Given the description of an element on the screen output the (x, y) to click on. 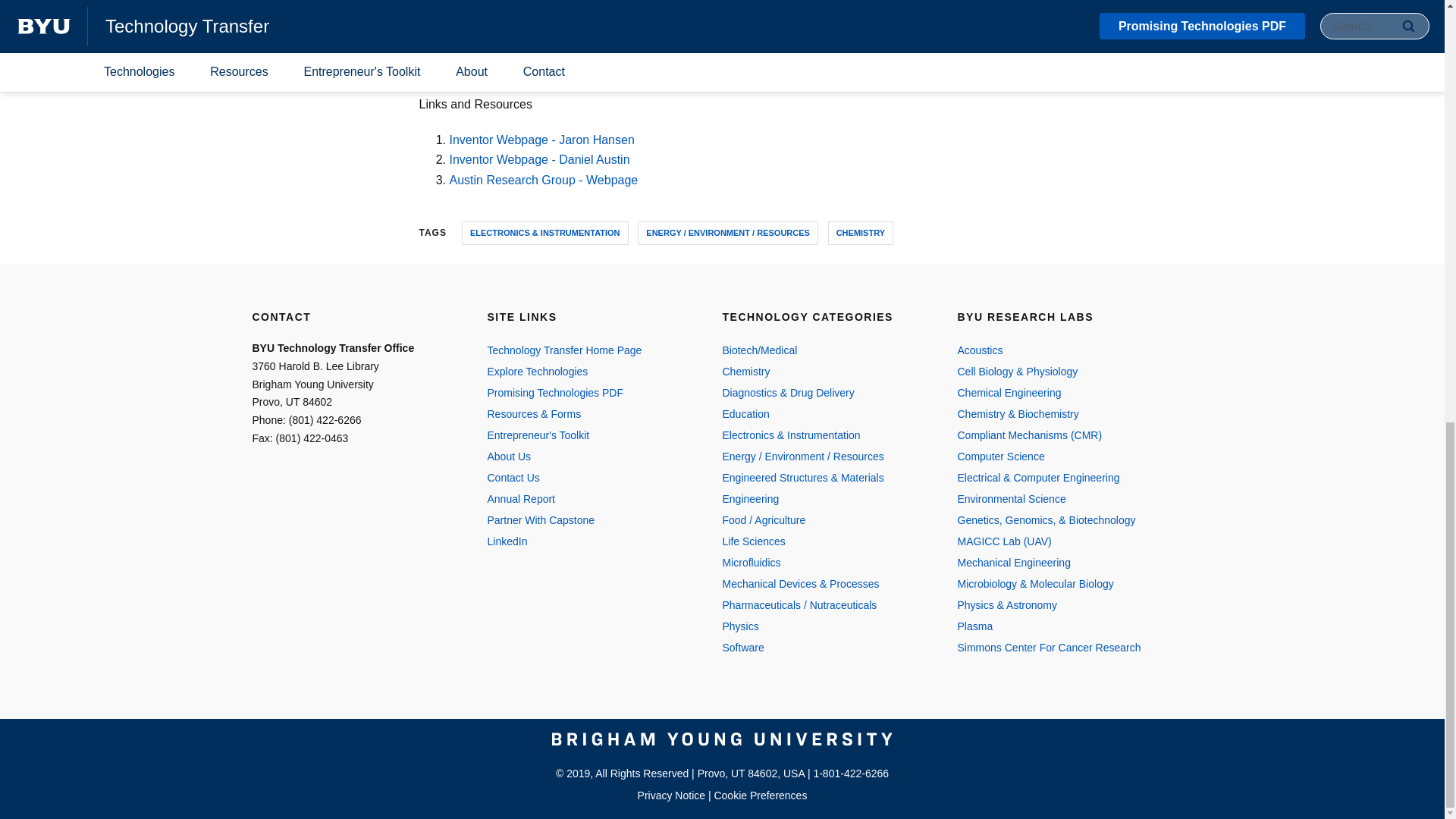
Inventor Webpage - Jaron Hansen (540, 139)
Austin Research Group - Webpage (542, 179)
CHEMISTRY (860, 232)
Annual Report (588, 498)
Engineering (824, 498)
LinkedIn (588, 541)
About Us (588, 455)
Chemistry (824, 371)
Partner With Capstone (588, 519)
Promising Technologies PDF (588, 392)
